Given the description of an element on the screen output the (x, y) to click on. 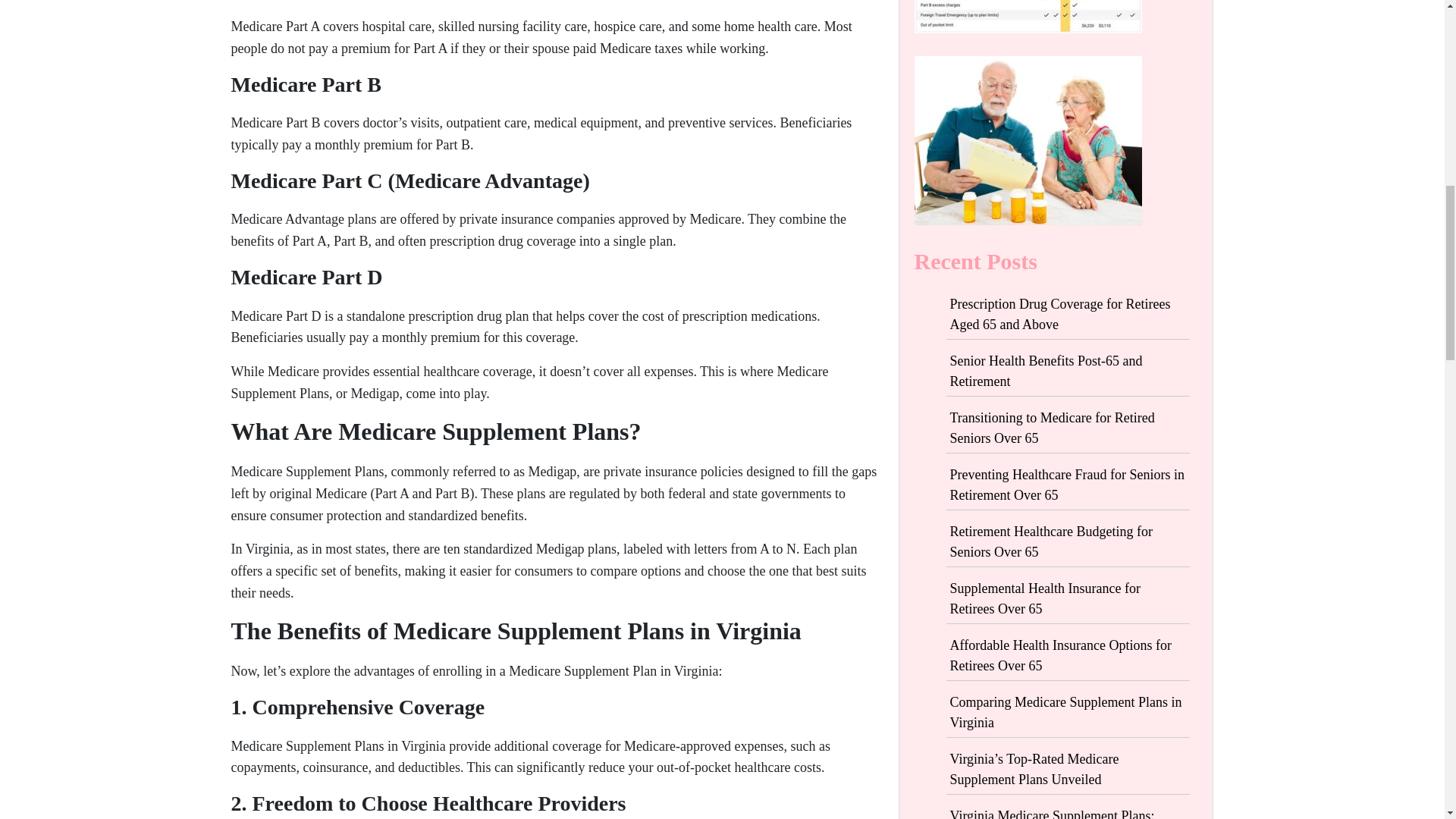
Senior Health Benefits Post-65 and Retirement (1045, 370)
Prescription Drug Coverage for Retirees Aged 65 and Above (1059, 314)
Retirement Healthcare Budgeting for Seniors Over 65 (1050, 541)
Transitioning to Medicare for Retired Seniors Over 65 (1051, 427)
Virginia Medicare Supplement Plans: What You Need to Know (1051, 813)
Supplemental Health Insurance for Retirees Over 65 (1044, 598)
Comparing Medicare Supplement Plans in Virginia (1064, 712)
Affordable Health Insurance Options for Retirees Over 65 (1060, 655)
